Given the description of an element on the screen output the (x, y) to click on. 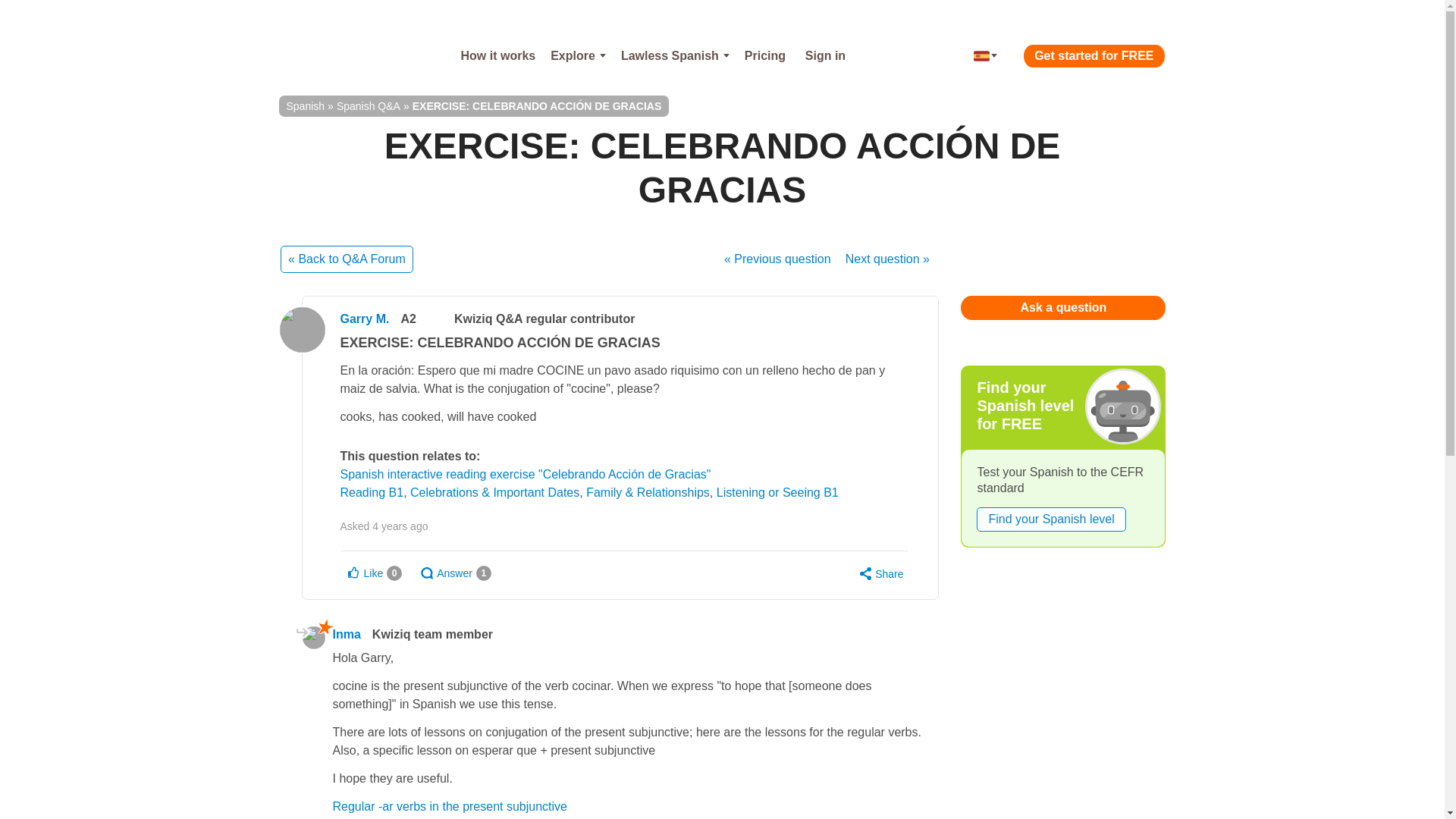
Explore (577, 56)
1st December 2019 (400, 526)
How it works (497, 56)
Lawless Spanish (674, 56)
